Given the description of an element on the screen output the (x, y) to click on. 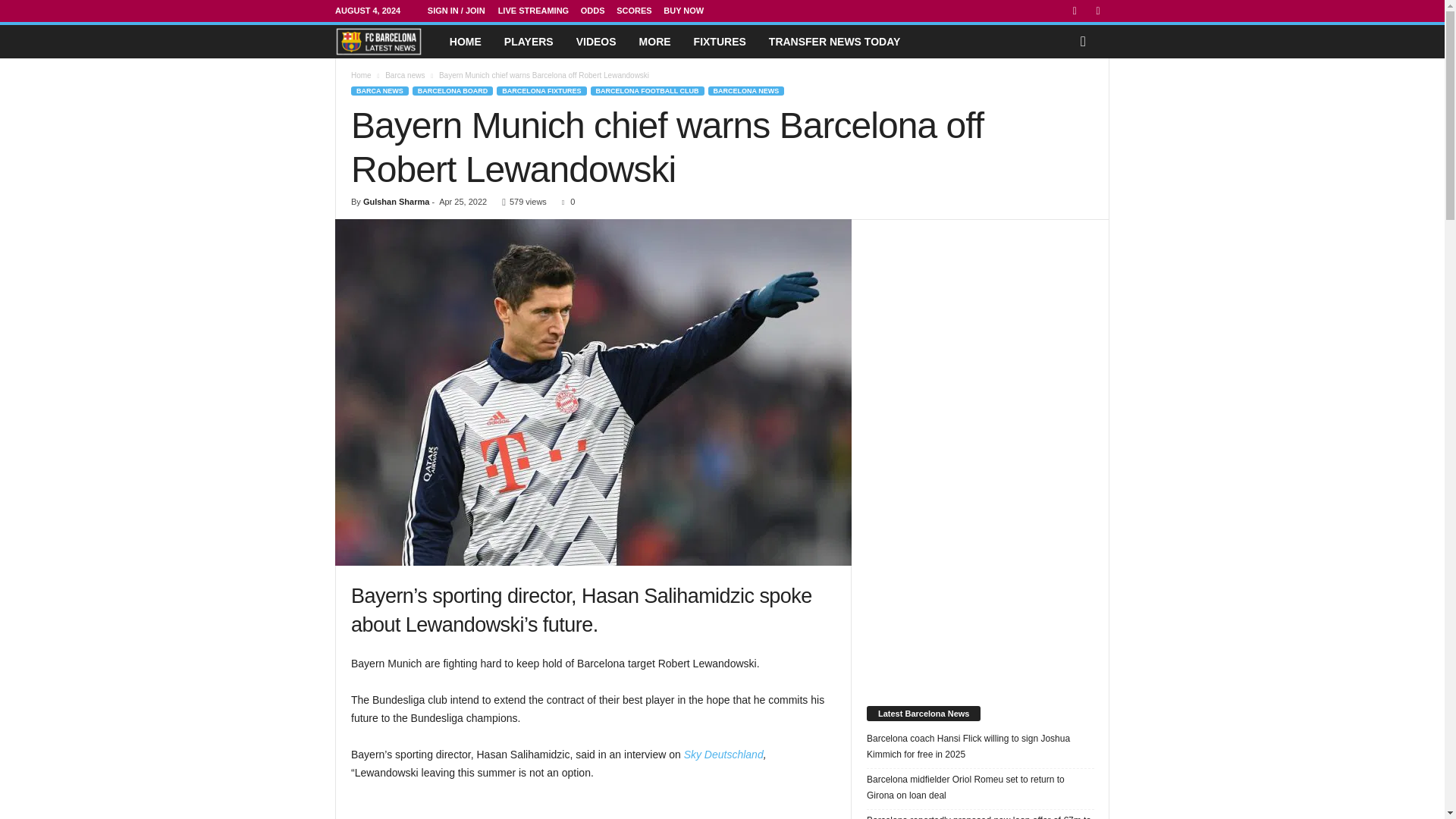
LIVE STREAMING (533, 10)
BUY NOW (683, 10)
View all posts in Barca news (405, 75)
SCORES (632, 10)
FC Barcelona Latest News Now Today Morning (378, 41)
ODDS (592, 10)
